Given the description of an element on the screen output the (x, y) to click on. 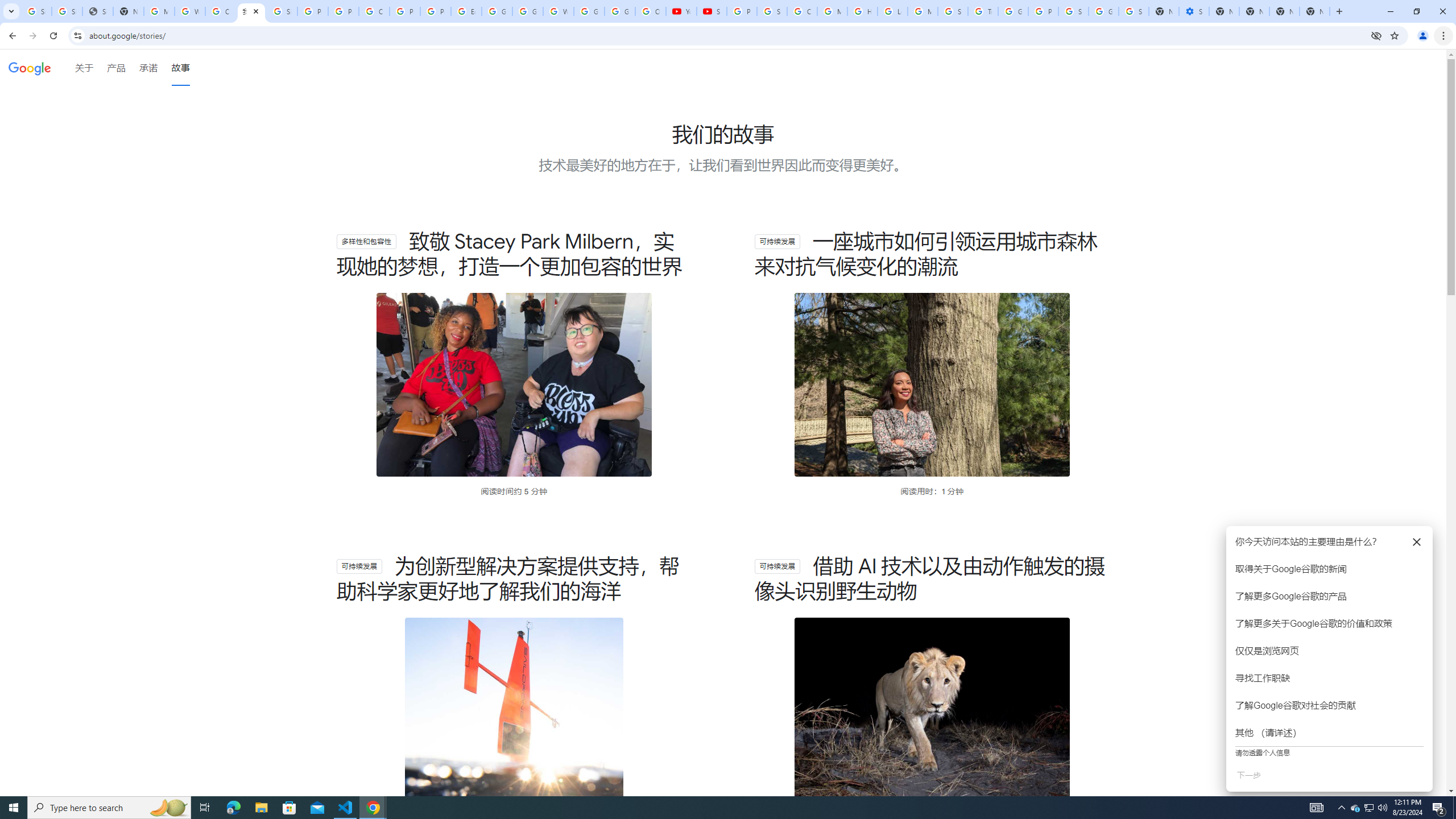
Who is my administrator? - Google Account Help (189, 11)
Create your Google Account (220, 11)
Google Cybersecurity Innovations - Google Safety Center (1103, 11)
Welcome to My Activity (558, 11)
Settings - Performance (1193, 11)
